Given the description of an element on the screen output the (x, y) to click on. 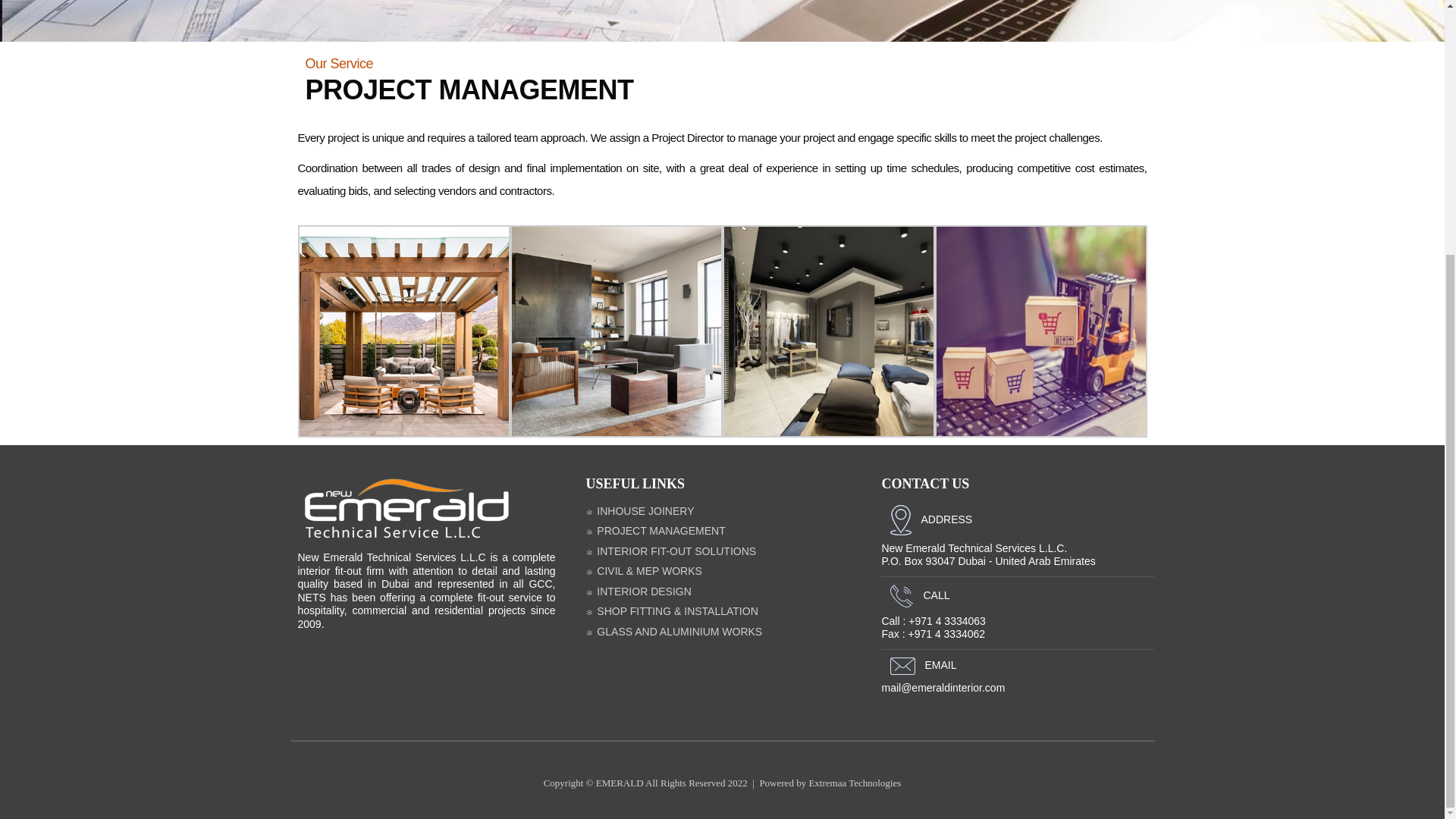
GLASS AND ALUMINIUM WORKS (673, 631)
PROJECT MANAGEMENT (655, 530)
INTERIOR DESIGN (637, 591)
INTERIOR FIT-OUT SOLUTIONS (670, 551)
Extremaa Technologies (854, 782)
INHOUSE JOINERY (639, 510)
